Given the description of an element on the screen output the (x, y) to click on. 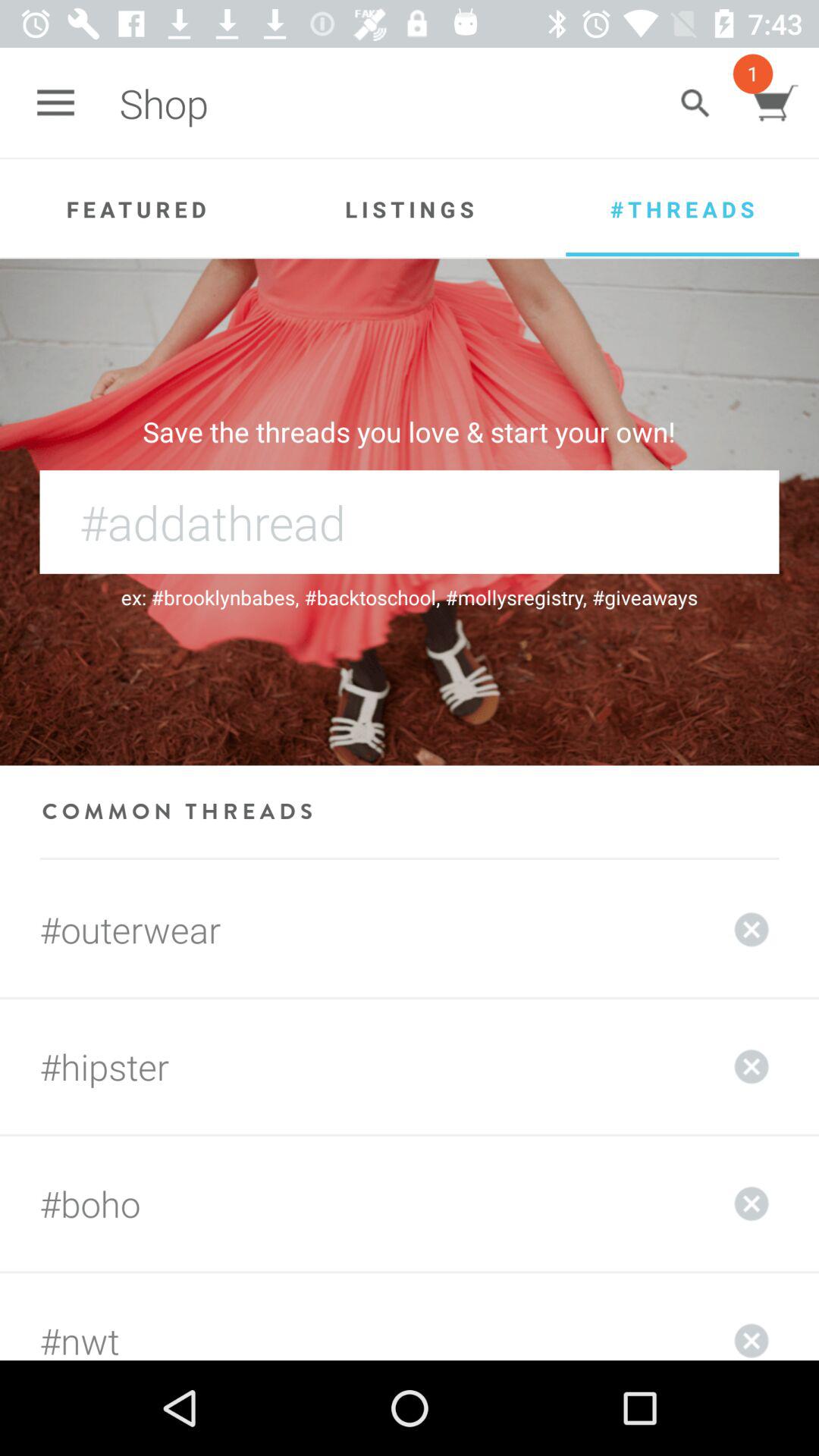
click to close option (751, 1203)
